Given the description of an element on the screen output the (x, y) to click on. 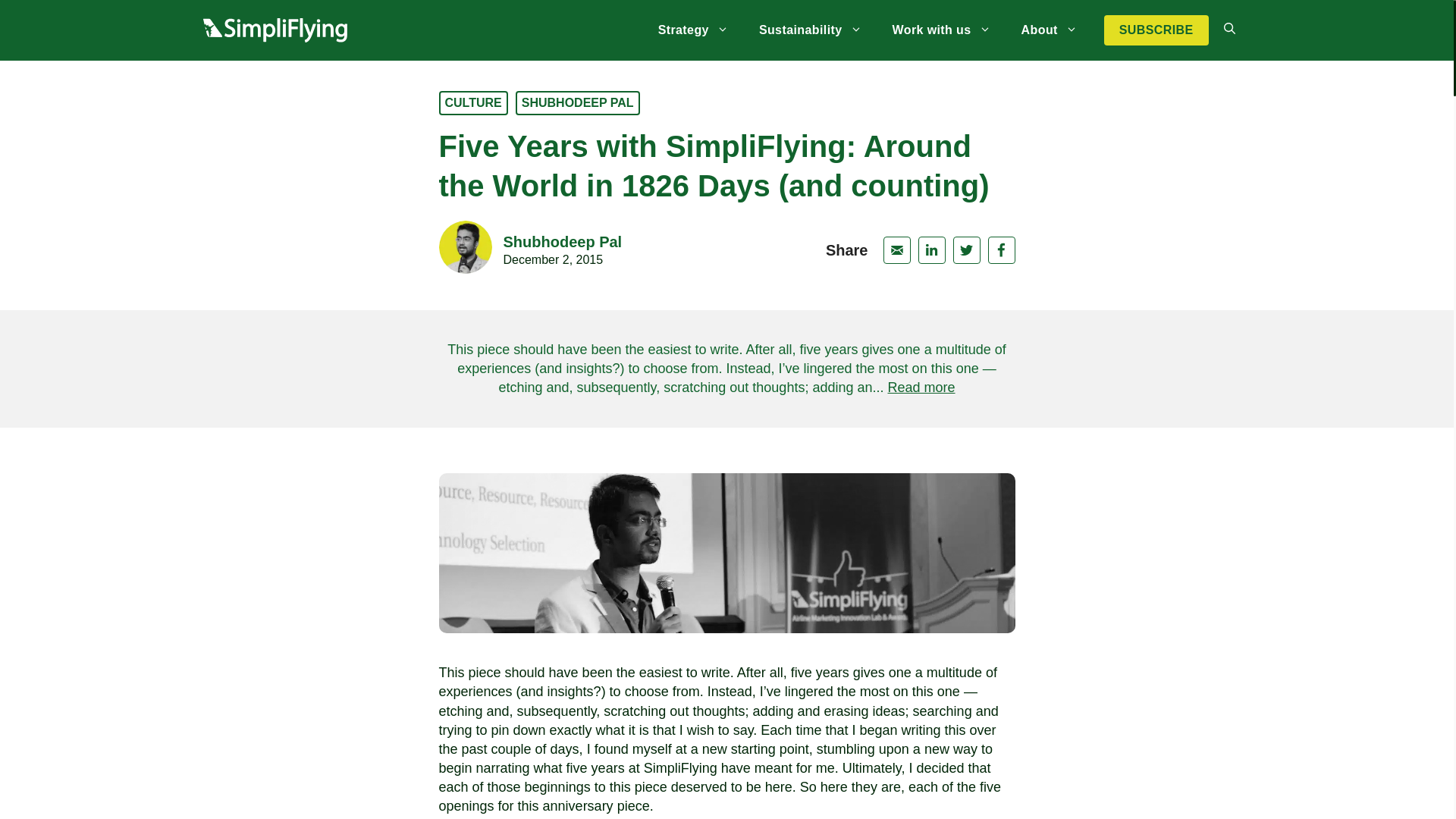
Read more (529, 250)
Sustainability (920, 387)
Strategy (810, 30)
Work with us (693, 30)
Read more (941, 30)
SUBSCRIBE (920, 387)
About (1155, 30)
